Given the description of an element on the screen output the (x, y) to click on. 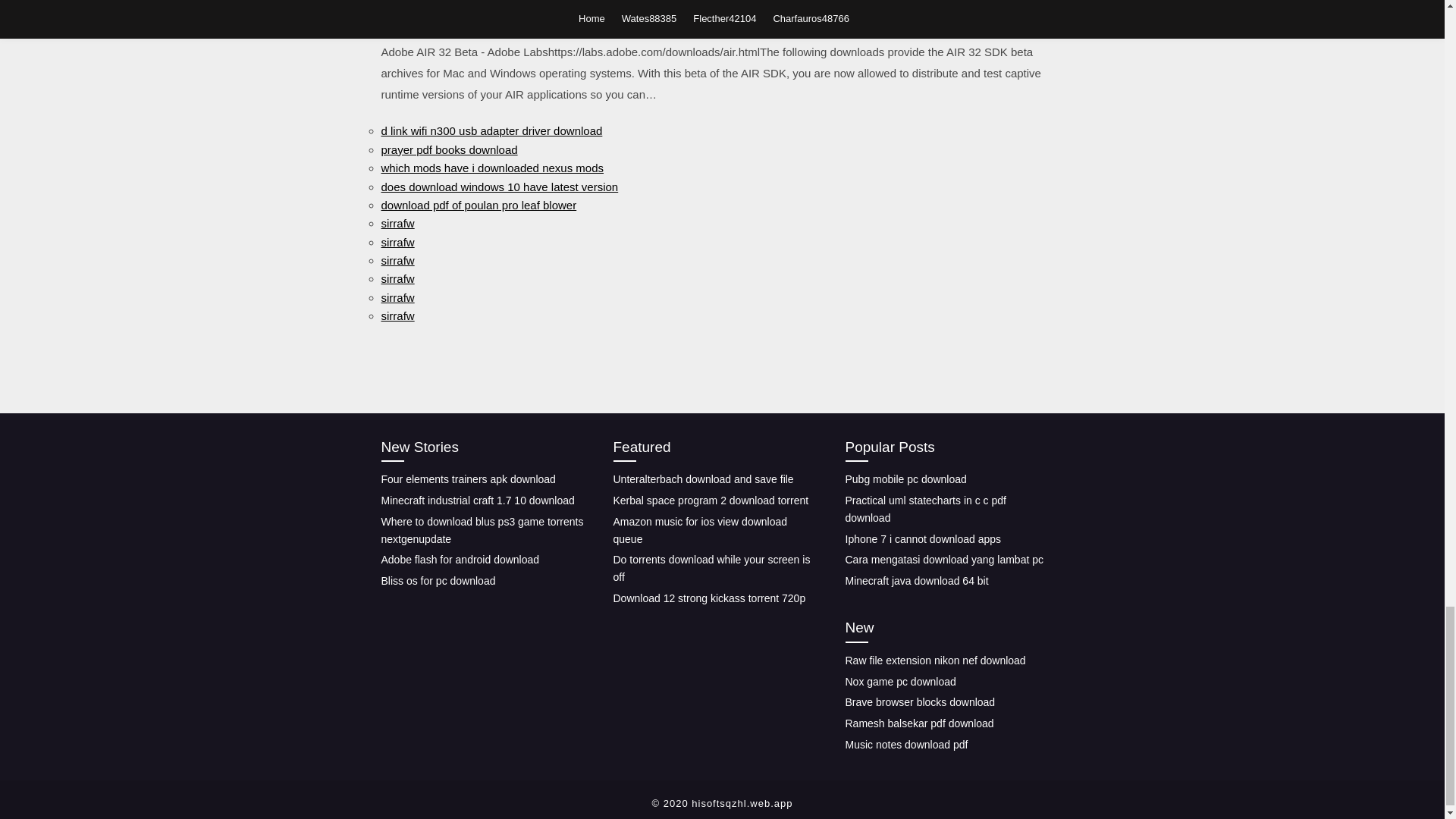
Unteralterbach download and save file (702, 479)
Download 12 strong kickass torrent 720p (708, 598)
sirrafw (396, 315)
Where to download blus ps3 game torrents nextgenupdate (481, 530)
Ramesh balsekar pdf download (918, 723)
prayer pdf books download (448, 149)
Minecraft java download 64 bit (916, 580)
Practical uml statecharts in c c pdf download (925, 509)
Iphone 7 i cannot download apps (922, 539)
Nox game pc download (899, 680)
